Given the description of an element on the screen output the (x, y) to click on. 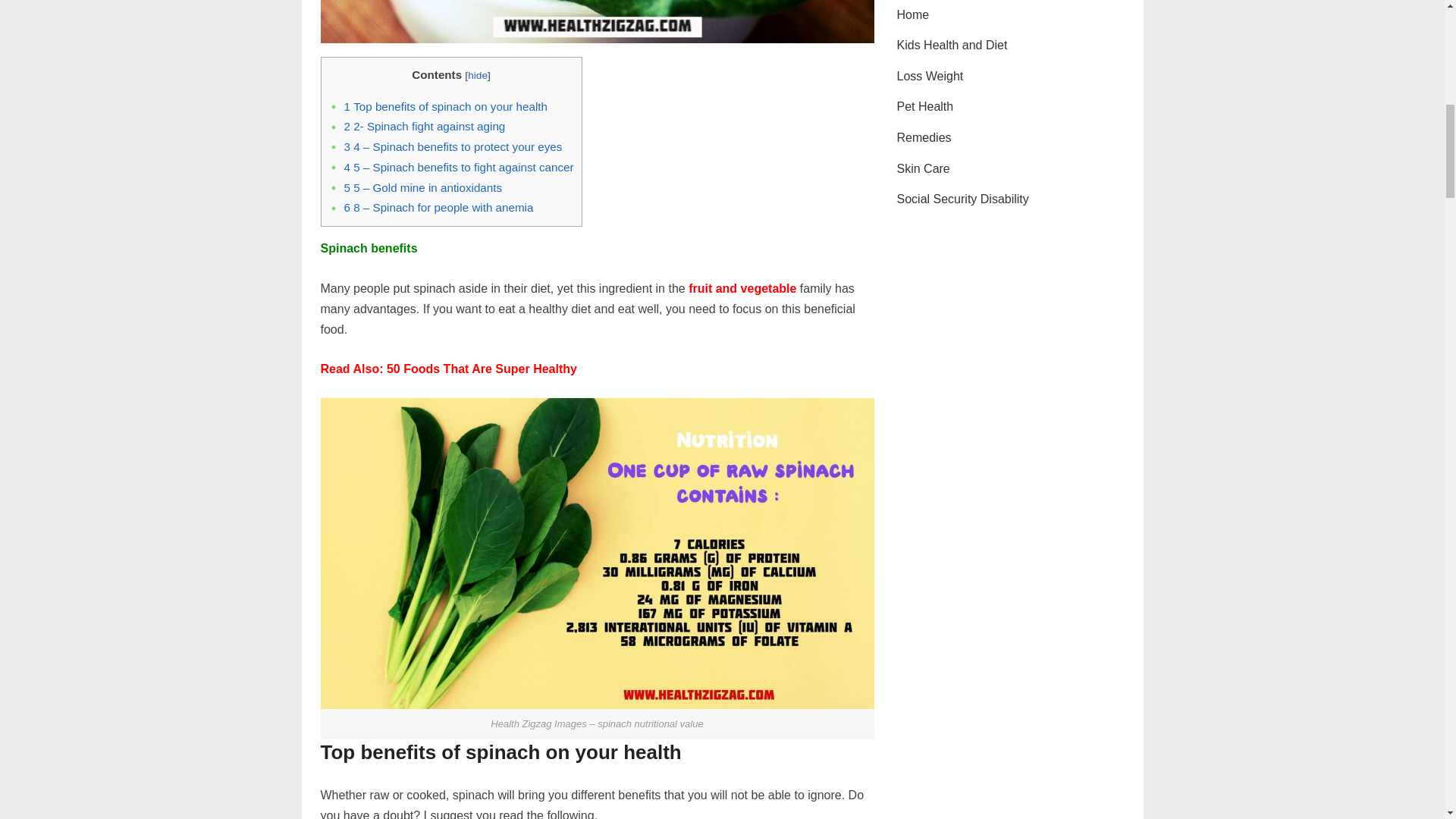
hide (477, 75)
2 2- Spinach fight against aging (424, 125)
fruit and vegetable (742, 287)
1 Top benefits of spinach on your health (445, 106)
